Given the description of an element on the screen output the (x, y) to click on. 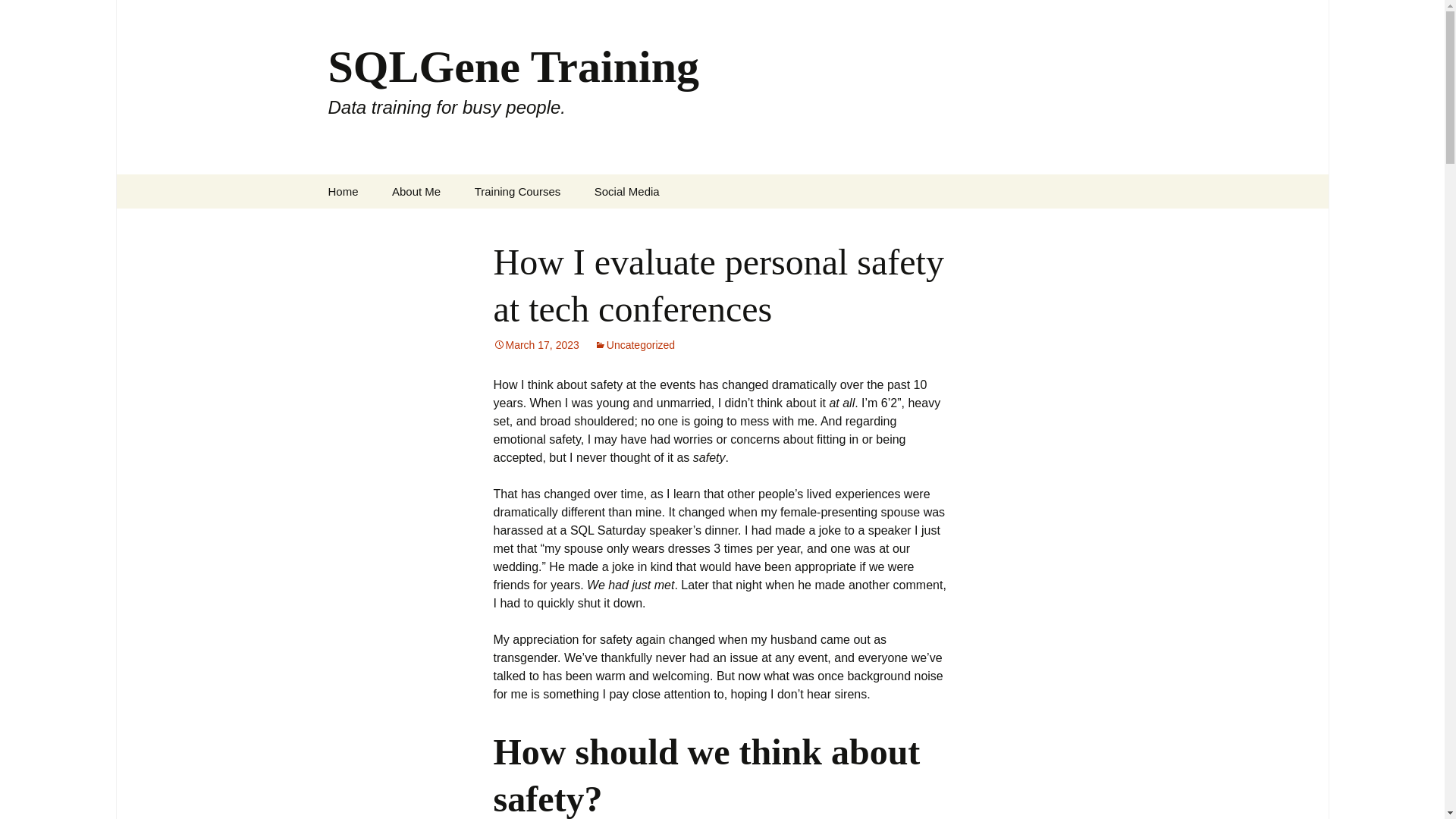
Uncategorized (634, 345)
Home (342, 191)
Training Courses (518, 191)
Search (34, 15)
Skip to content (535, 345)
About Me (627, 191)
Search (416, 191)
